Given the description of an element on the screen output the (x, y) to click on. 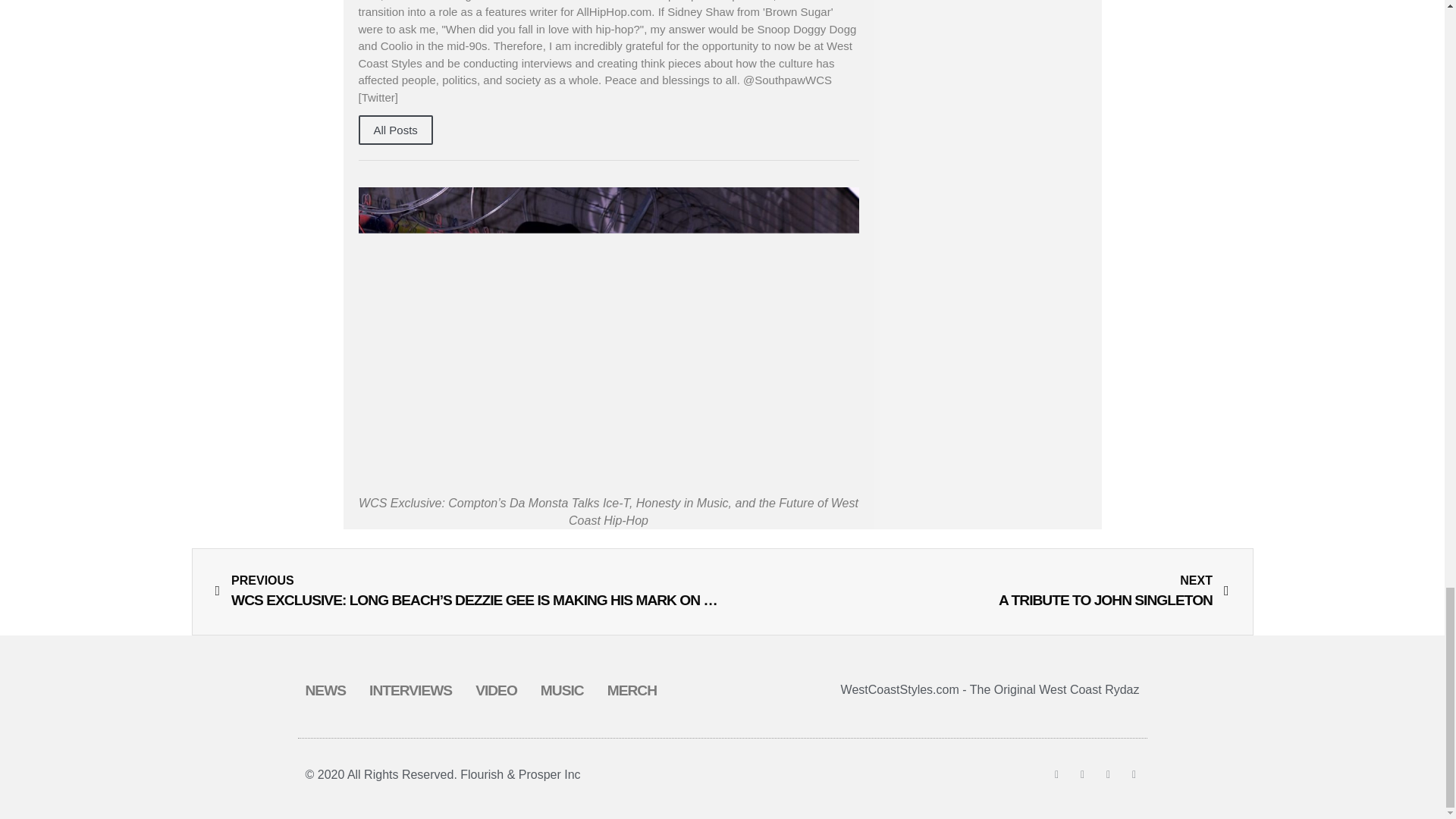
All Posts (395, 129)
